Given the description of an element on the screen output the (x, y) to click on. 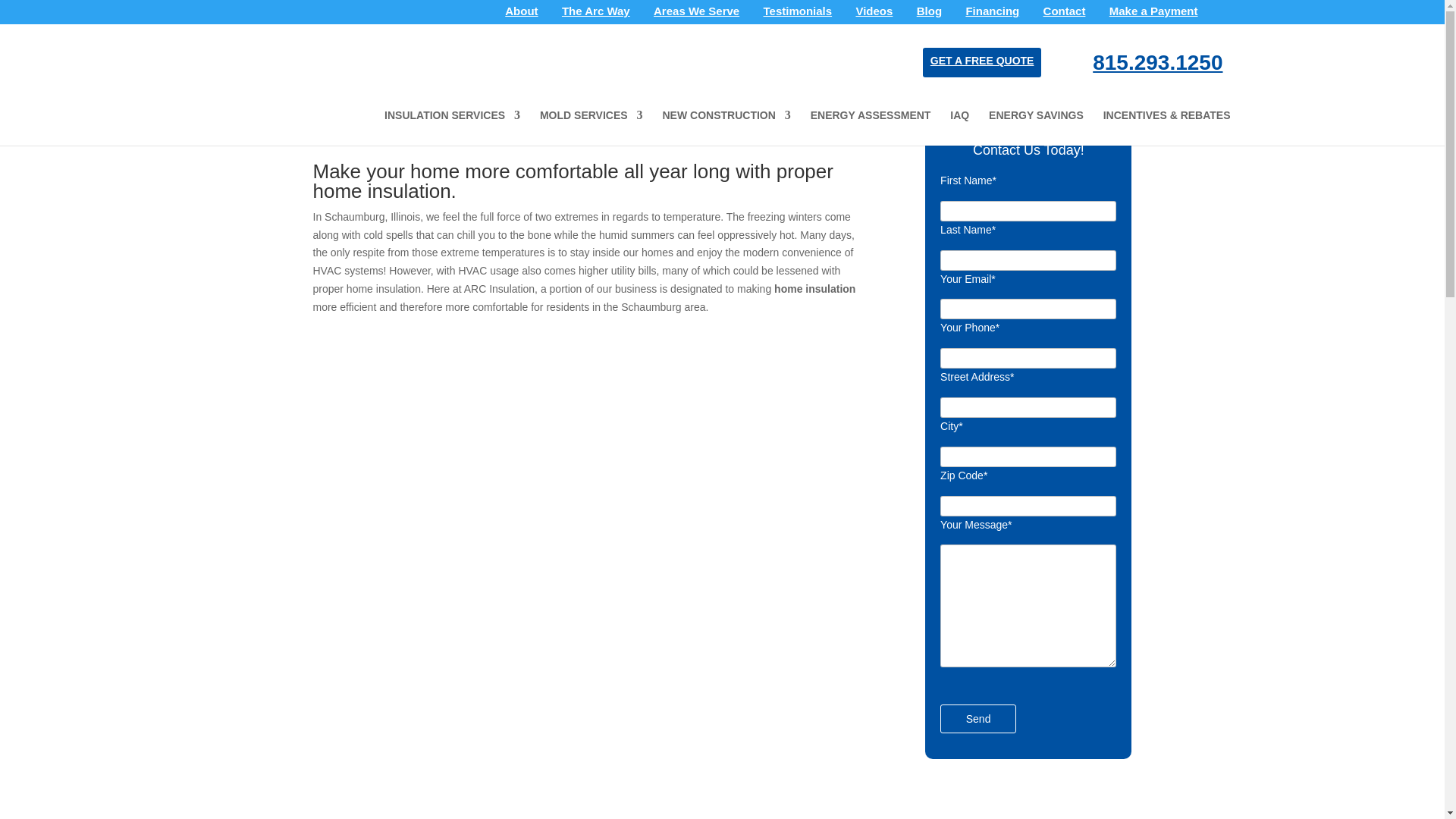
Financing (992, 15)
ENERGY ASSESSMENT (870, 127)
815.293.1250 (1158, 62)
GET A FREE QUOTE (981, 60)
Send (978, 718)
About (521, 15)
MOLD SERVICES (591, 127)
Blog (929, 15)
Go to ARC Insulation. (327, 136)
The Arc Way (596, 15)
